Given the description of an element on the screen output the (x, y) to click on. 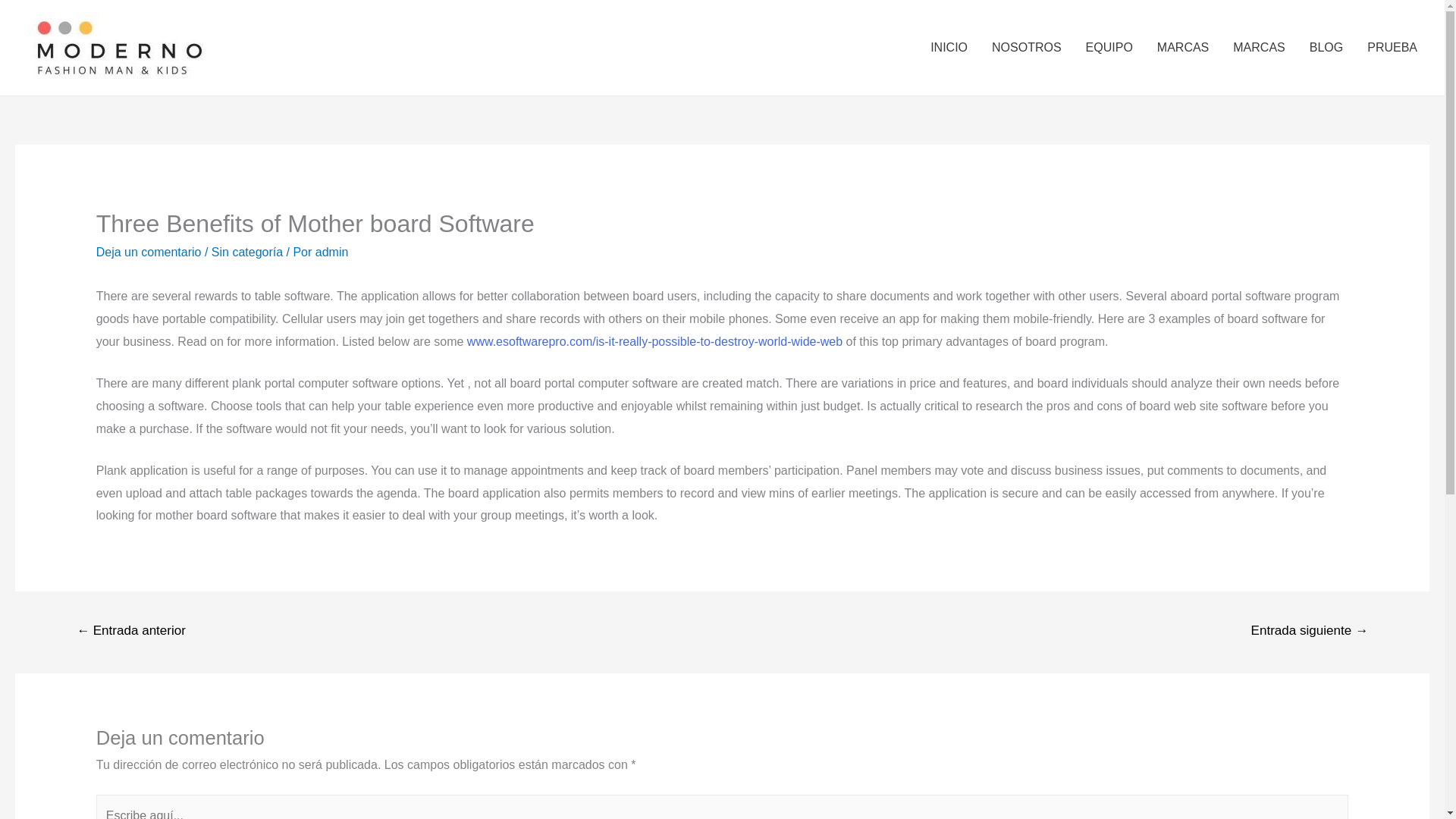
Deja un comentario (149, 251)
NOSOTROS (1026, 47)
Ver todas las entradas de admin (332, 251)
admin (332, 251)
